Given the description of an element on the screen output the (x, y) to click on. 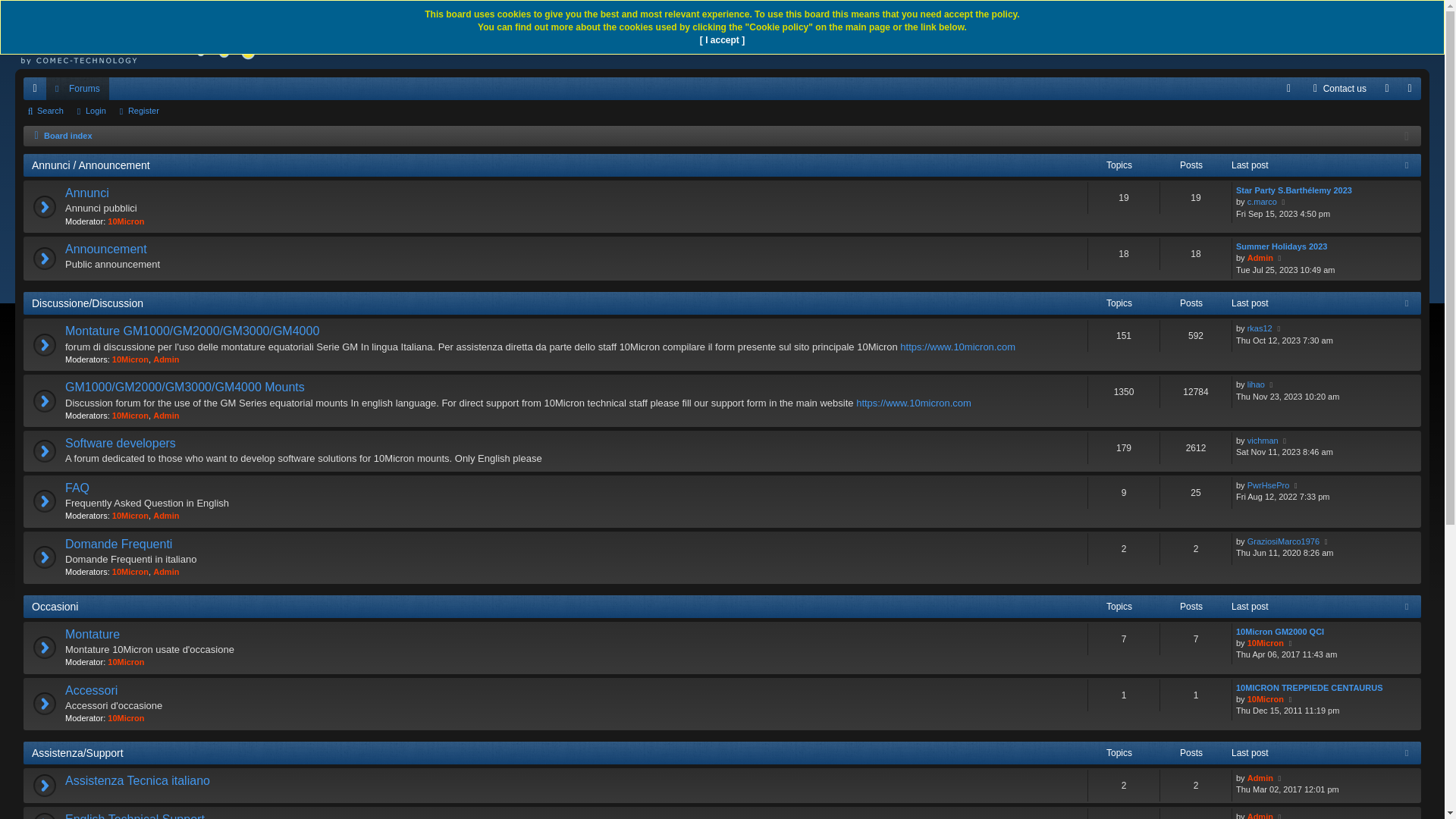
Search for keywords Element type: hover (1323, 34)
Occasioni Element type: text (54, 606)
Admin Element type: text (165, 571)
Forums Element type: text (77, 88)
Search Element type: text (1391, 34)
View the latest post Element type: text (1290, 699)
https://www.10micron.com Element type: text (913, 402)
Software developers Element type: text (120, 443)
10Micron Element type: text (1265, 642)
It is currently Fri Nov 24, 2023 9:05 am Element type: hover (1406, 136)
Contact us Element type: text (1337, 88)
View the latest post Element type: text (1285, 440)
View the latest post Element type: text (1280, 257)
Admin Element type: text (1260, 777)
View the latest post Element type: text (1279, 328)
Quick links Element type: text (34, 88)
GM1000/GM2000/GM3000/GM4000 Mounts Element type: text (184, 387)
Board index Element type: text (61, 135)
Assistenza Tecnica italiano Element type: text (137, 781)
c.marco Element type: text (1262, 201)
10Micron Element type: text (130, 571)
Search Element type: text (46, 110)
Register Element type: text (139, 110)
Montature Element type: text (92, 634)
View the latest post Element type: text (1280, 778)
Advanced search Element type: text (1413, 34)
10Micron Element type: text (130, 515)
Login Element type: text (1386, 88)
10Micron Element type: text (130, 359)
Admin Element type: text (165, 359)
Discussione/Discussion Element type: text (87, 303)
rkas12 Element type: text (1259, 328)
View the latest post Element type: text (1290, 643)
View the latest post Element type: text (1284, 201)
10MICRON TREPPIEDE CENTAURUS Element type: text (1309, 687)
10Micron Element type: text (125, 717)
vichman Element type: text (1262, 440)
FAQ Element type: text (77, 488)
[ I accept ] Element type: text (722, 40)
View the latest post Element type: text (1326, 541)
Admin Element type: text (1260, 257)
PwrHsePro Element type: text (1268, 485)
Announcement Element type: text (106, 249)
Login Element type: text (92, 110)
10Micron Element type: text (125, 661)
Board index Element type: hover (144, 34)
10Micron Element type: text (130, 415)
Admin Element type: text (165, 415)
Summer Holidays 2023 Element type: text (1281, 246)
Montature GM1000/GM2000/GM3000/GM4000 Element type: text (192, 331)
Accessori Element type: text (91, 691)
View the latest post Element type: text (1296, 485)
Admin Element type: text (165, 515)
Annunci Element type: text (87, 193)
View the latest post Element type: text (1272, 384)
Annunci / Announcement Element type: text (90, 165)
FAQ Element type: text (1288, 88)
https://www.10micron.com Element type: text (957, 346)
Assistenza/Support Element type: text (77, 752)
Domande Frequenti Element type: text (118, 544)
10Micron Element type: text (125, 220)
Register Element type: text (1409, 88)
10Micron Element type: text (1265, 698)
GraziosiMarco1976 Element type: text (1283, 541)
lihao Element type: text (1255, 384)
10Micron GM2000 QCI Element type: text (1280, 631)
